Given the description of an element on the screen output the (x, y) to click on. 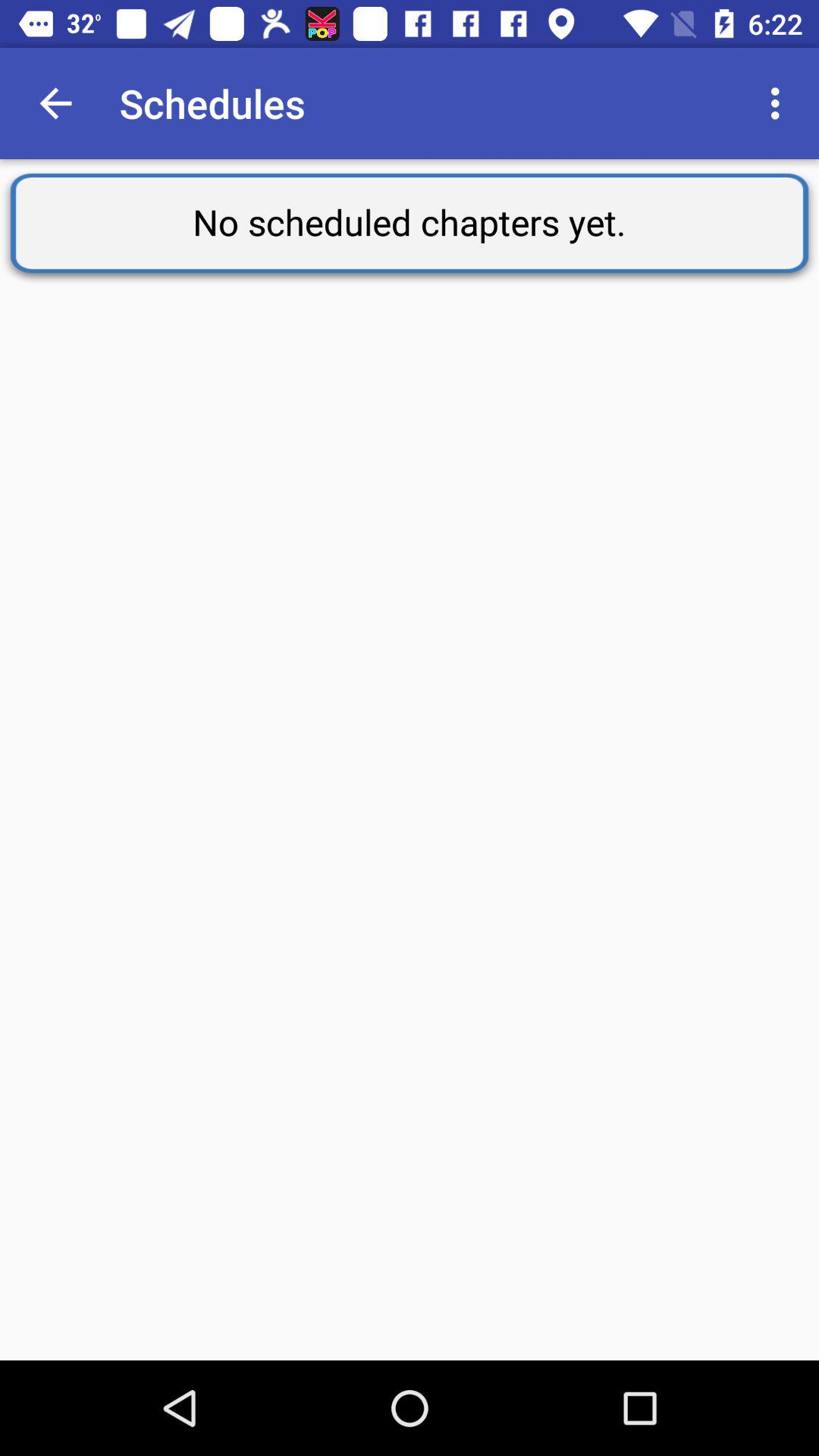
select the icon next to the schedules app (779, 103)
